Given the description of an element on the screen output the (x, y) to click on. 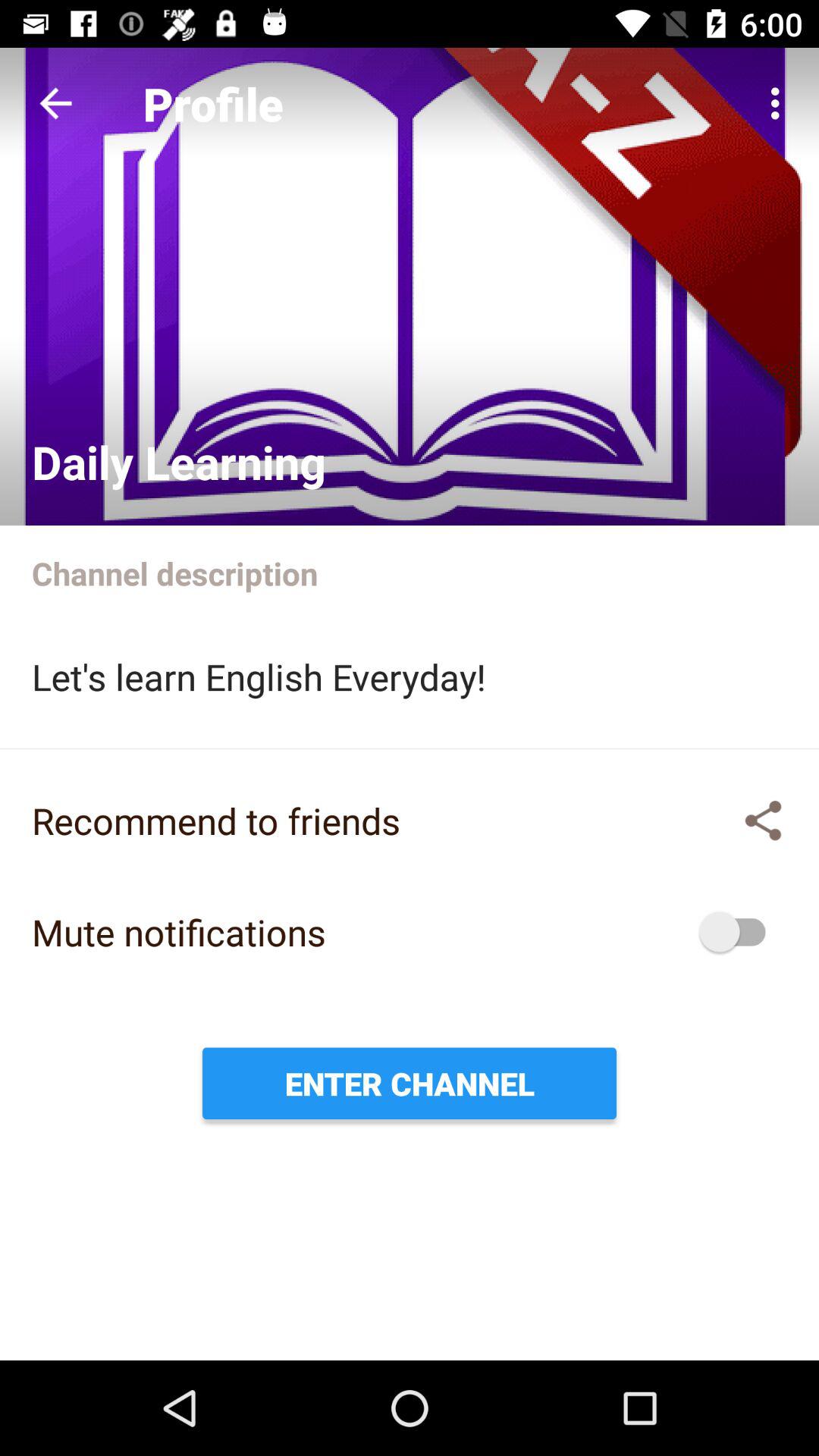
turn on the item to the left of profile (55, 103)
